Given the description of an element on the screen output the (x, y) to click on. 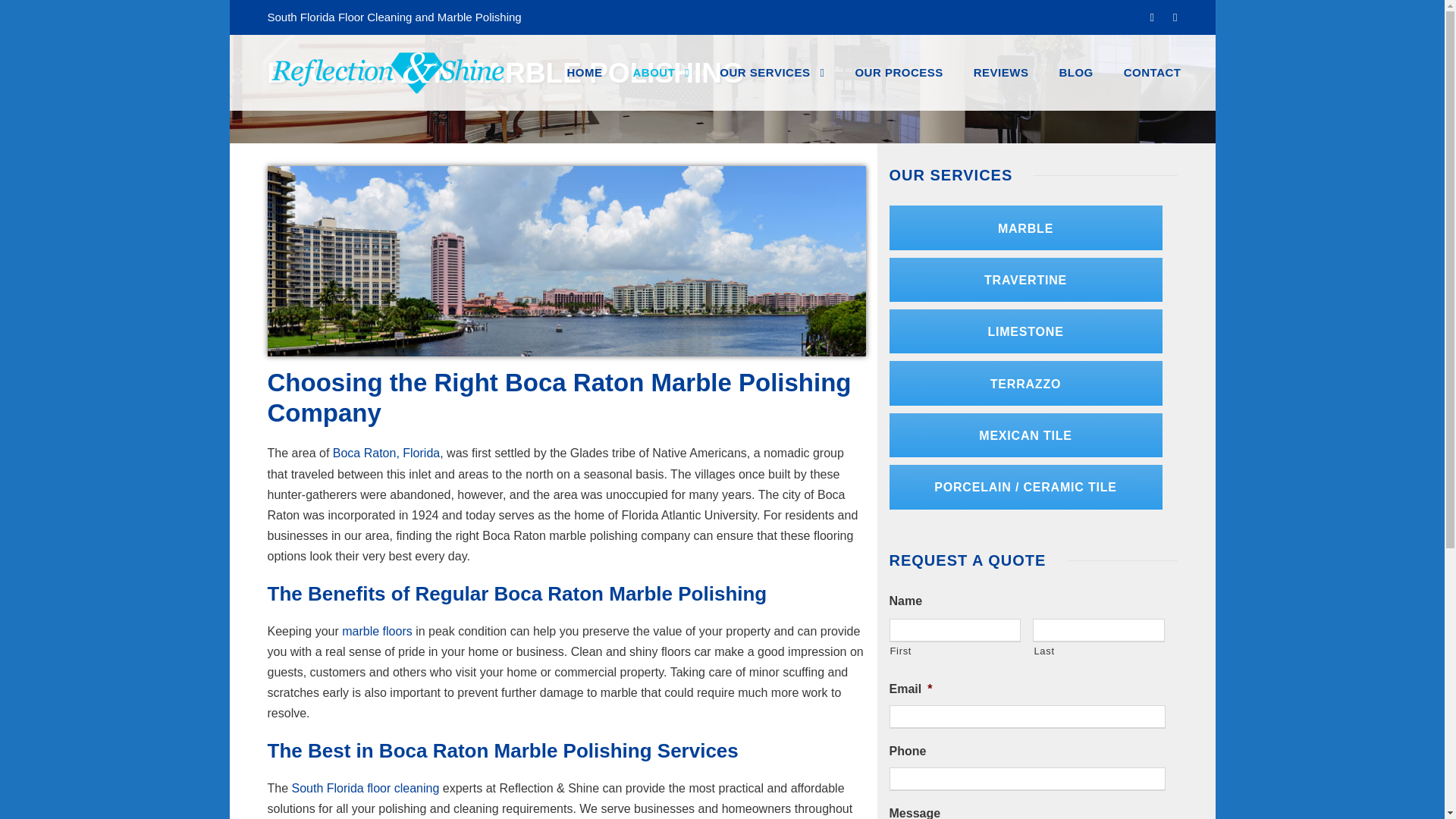
email (1152, 16)
facebook (1174, 16)
